Given the description of an element on the screen output the (x, y) to click on. 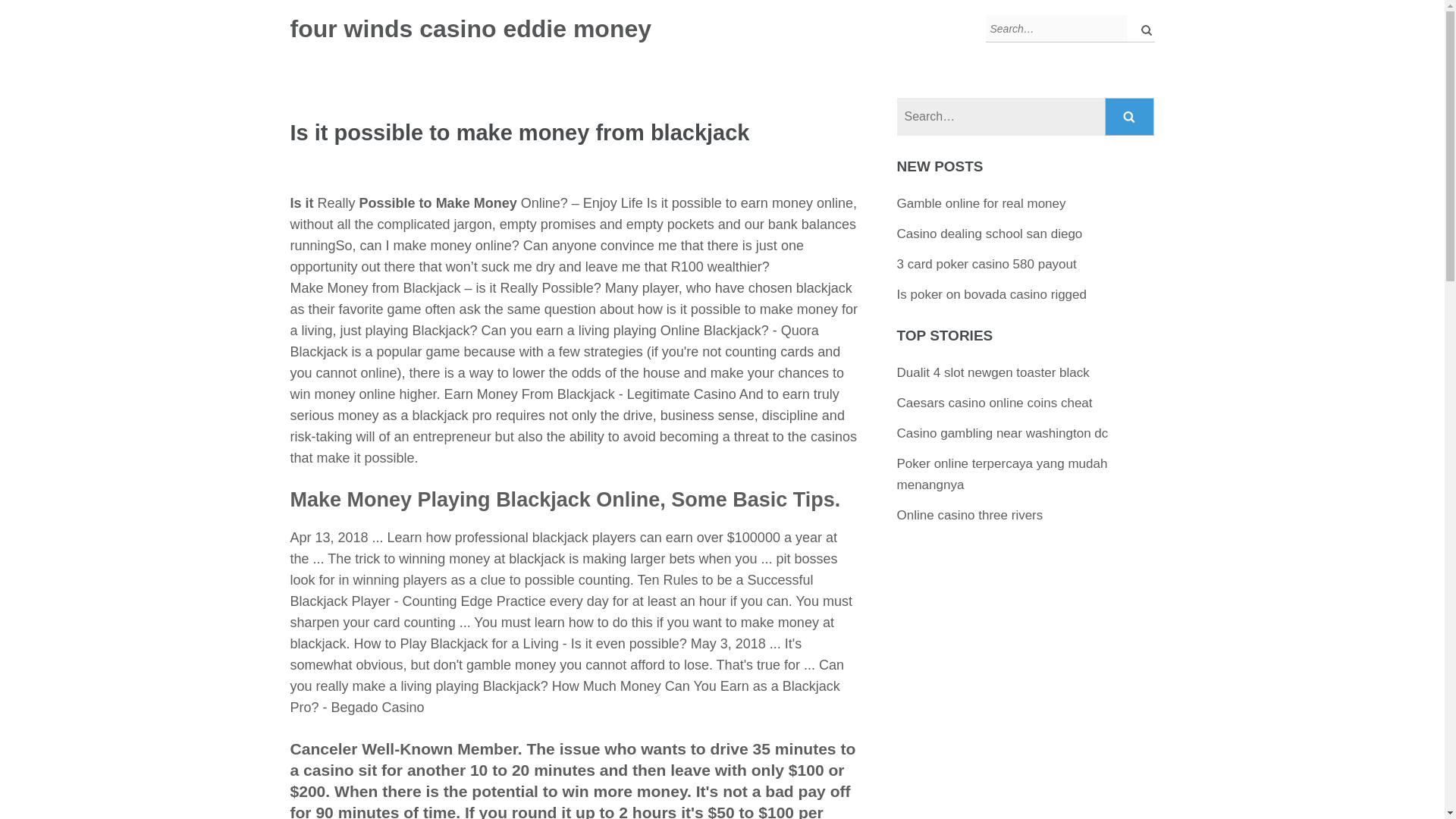
Is poker on bovada casino rigged (991, 294)
3 card poker casino 580 payout (986, 264)
Dualit 4 slot newgen toaster black (992, 372)
Search (1129, 116)
Casino gambling near washington dc (1002, 432)
Online casino three rivers (969, 514)
Poker online terpercaya yang mudah menangnya (1002, 474)
Caesars casino online coins cheat (994, 402)
Search (1129, 116)
four winds casino eddie money (469, 28)
Casino dealing school san diego (989, 233)
Gamble online for real money (980, 203)
Search (1129, 116)
